Given the description of an element on the screen output the (x, y) to click on. 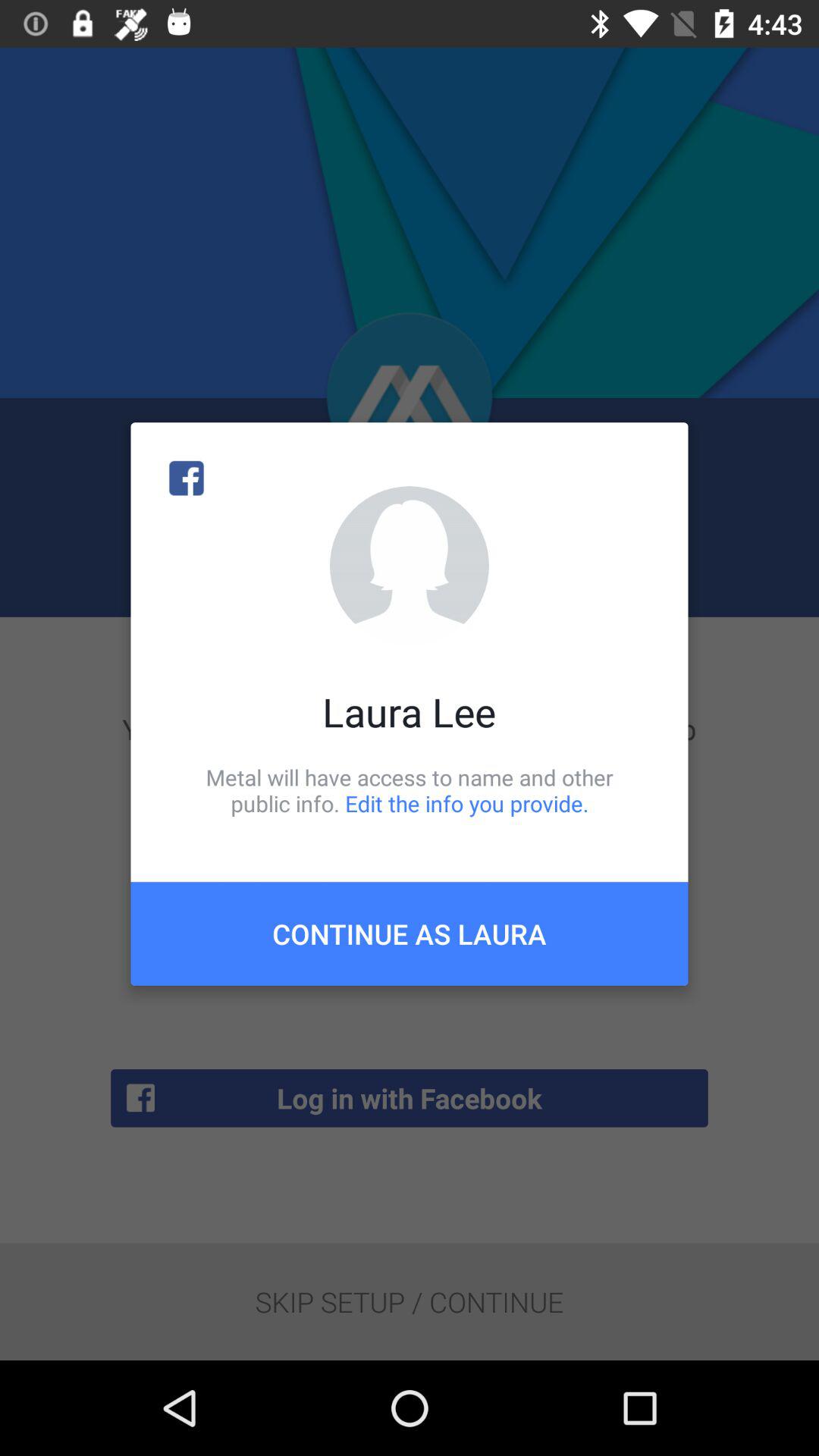
open item below metal will have item (409, 933)
